Given the description of an element on the screen output the (x, y) to click on. 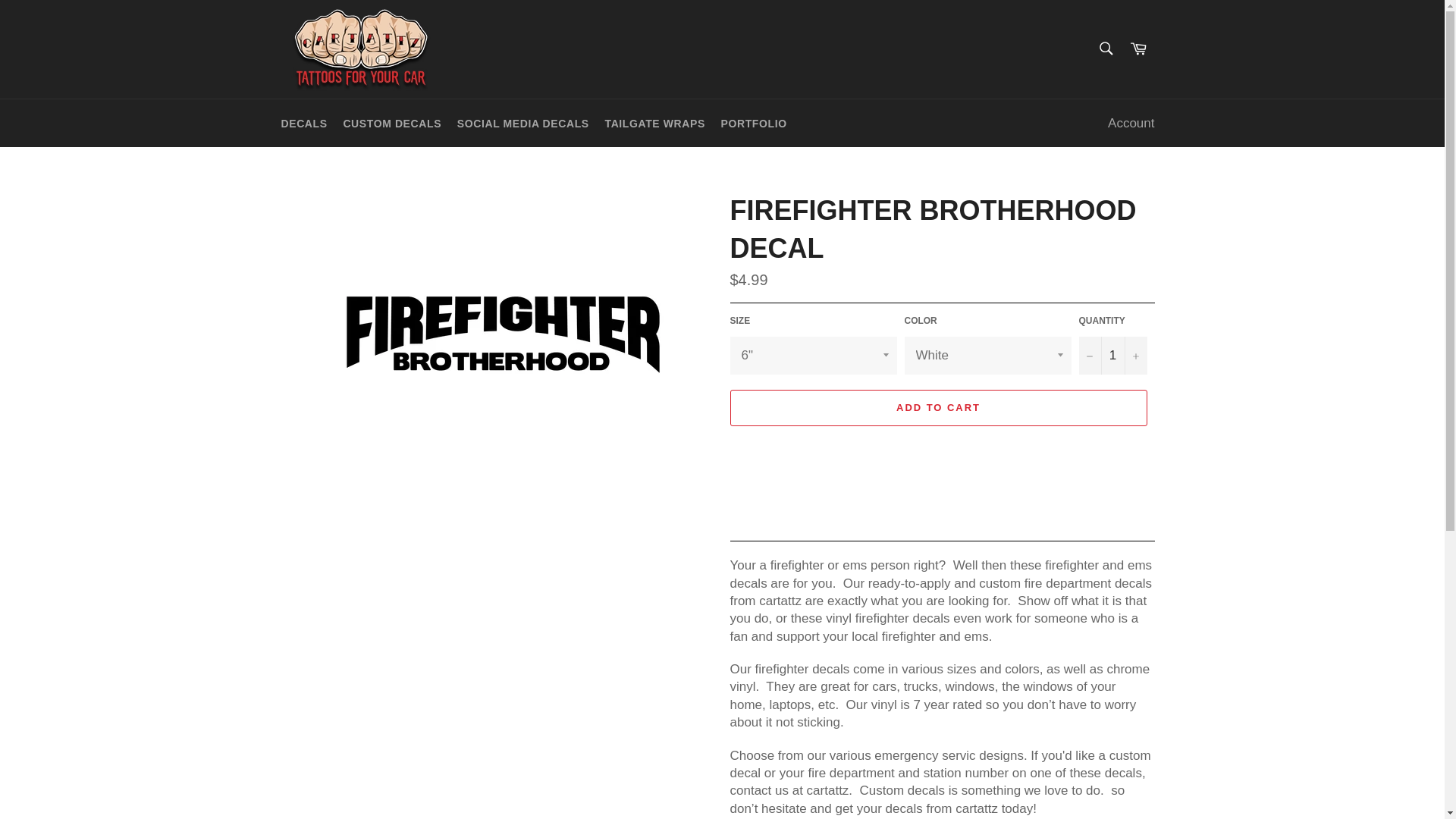
Account (1130, 123)
DECALS (304, 124)
CUSTOM DECALS (391, 124)
Search (1104, 47)
1 (1112, 354)
ADD TO CART (938, 407)
PORTFOLIO (753, 124)
TAILGATE WRAPS (654, 124)
Cart (1138, 48)
SOCIAL MEDIA DECALS (523, 124)
